Given the description of an element on the screen output the (x, y) to click on. 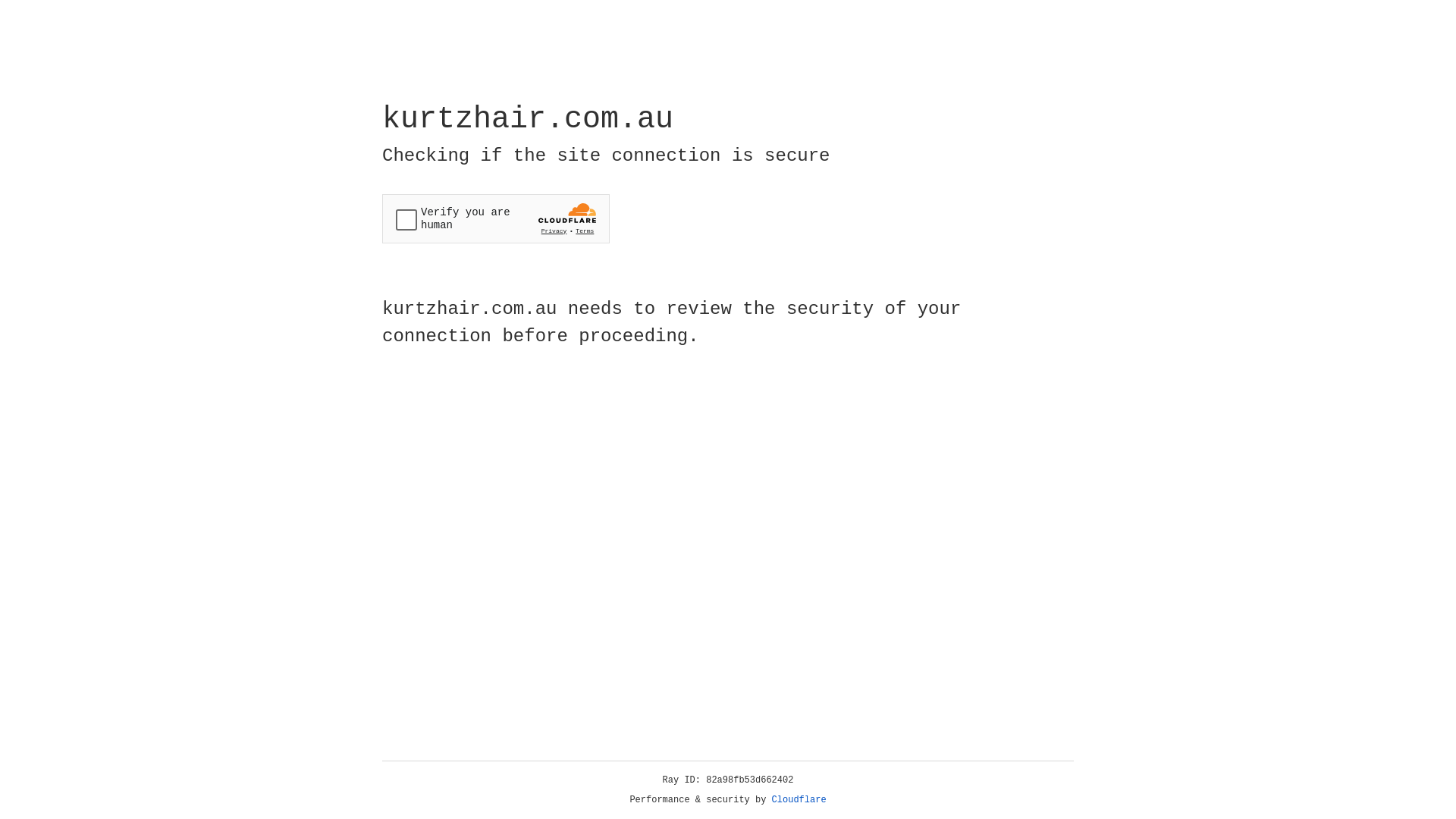
Cloudflare Element type: text (798, 799)
Widget containing a Cloudflare security challenge Element type: hover (495, 218)
